Given the description of an element on the screen output the (x, y) to click on. 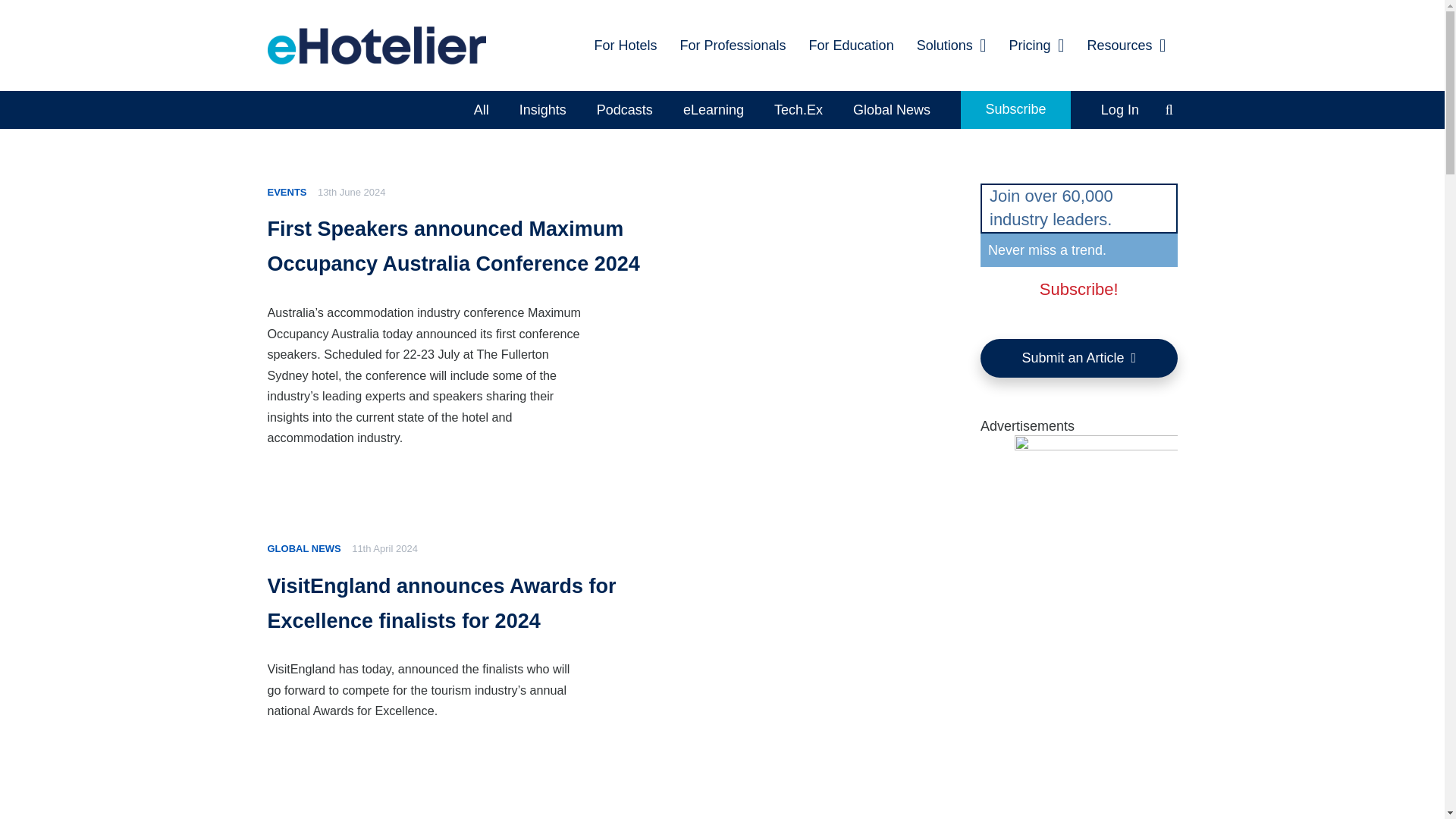
For Education (851, 45)
Tech.Ex (798, 109)
Podcasts (624, 109)
For Professionals (732, 45)
Resources (1126, 45)
eLearning (713, 109)
Global News (891, 109)
All (480, 109)
Subscribe (1015, 109)
For Hotels (625, 45)
